Given the description of an element on the screen output the (x, y) to click on. 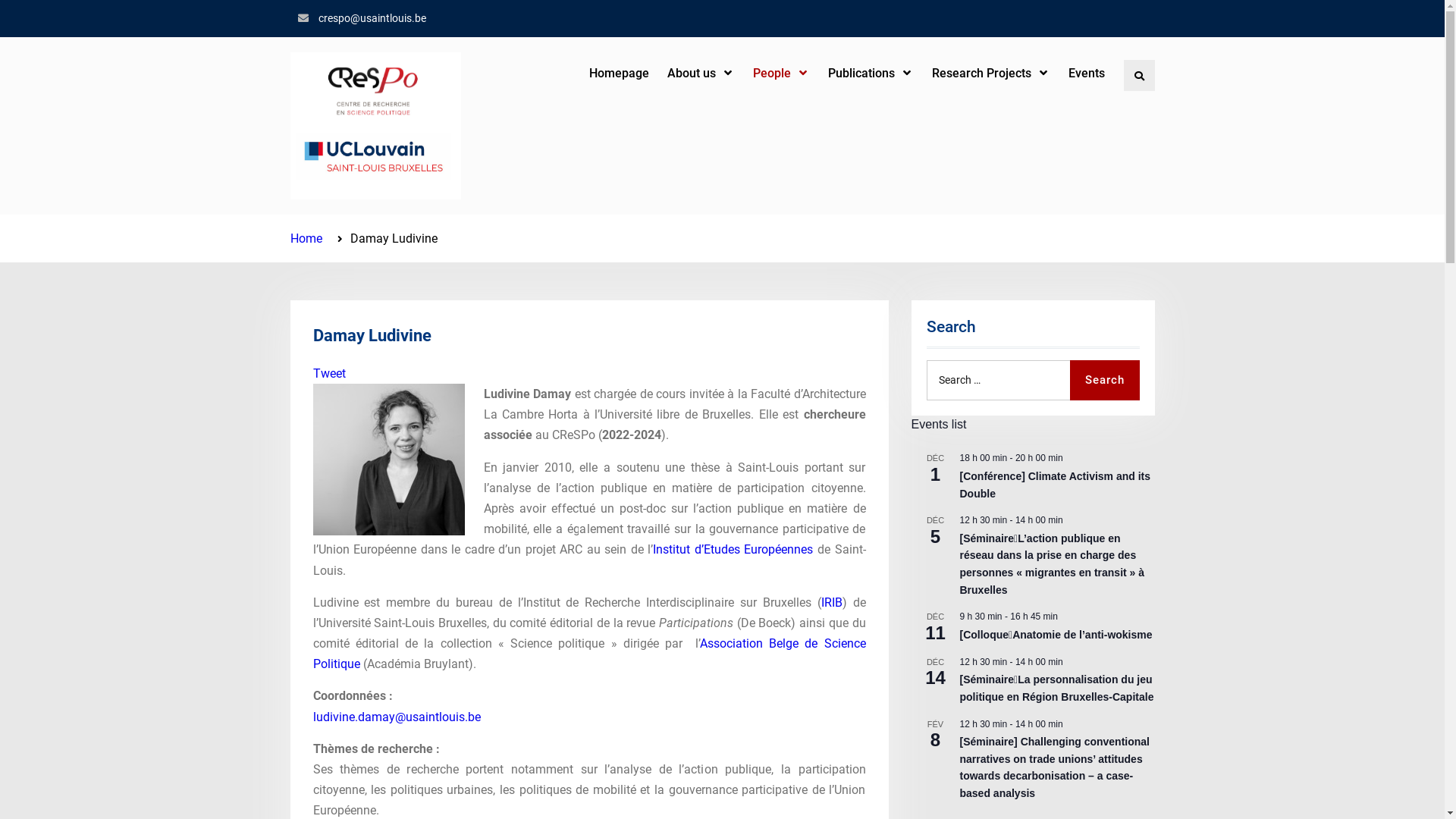
About us Element type: text (700, 72)
Association Belge de Science Politique Element type: text (588, 653)
Research Projects Element type: text (990, 72)
Tweet Element type: text (328, 373)
ludivine.damay@usaintlouis.be Element type: text (396, 716)
crespo@usaintlouis.be Element type: text (372, 18)
Home Element type: text (305, 238)
Homepage Element type: text (617, 72)
Search Element type: text (1138, 74)
Search Element type: text (1104, 380)
People Element type: text (780, 72)
Events Element type: text (1085, 72)
IRIB Element type: text (831, 602)
Publications Element type: text (870, 72)
